Given the description of an element on the screen output the (x, y) to click on. 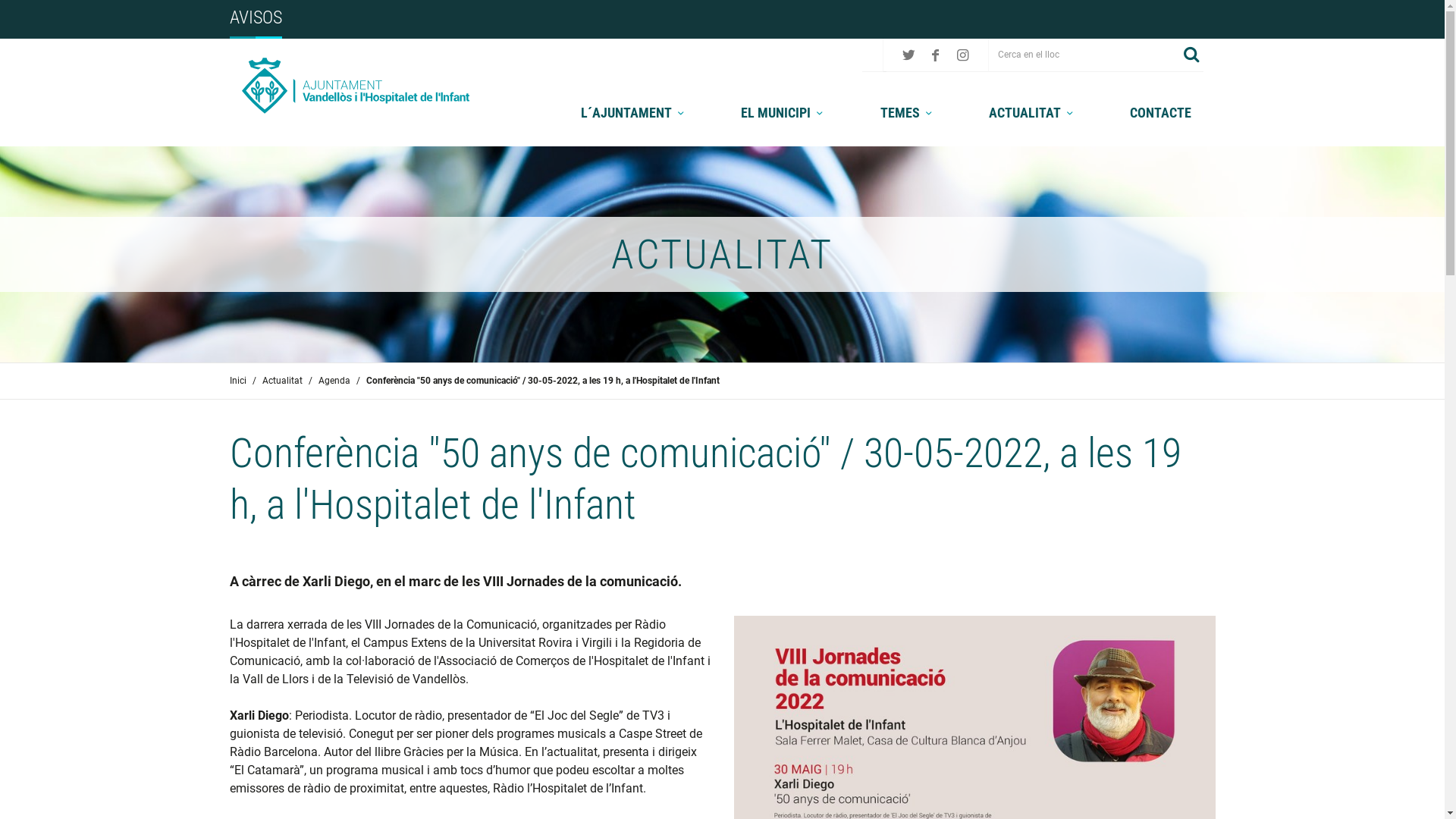
Facebook Element type: text (934, 54)
Instagram Element type: text (962, 54)
Inici Element type: text (237, 380)
CONTACTE Element type: text (1160, 112)
Twitter Element type: text (908, 54)
Cerca en el lloc Element type: hover (1083, 53)
Saltar al contingut Element type: text (34, 16)
Actualitat Element type: text (282, 380)
TEMES Element type: text (908, 112)
ACTUALITAT Element type: text (1032, 112)
Cerca Element type: text (1191, 53)
EL MUNICIPI Element type: text (783, 112)
Agenda Element type: text (334, 380)
